Given the description of an element on the screen output the (x, y) to click on. 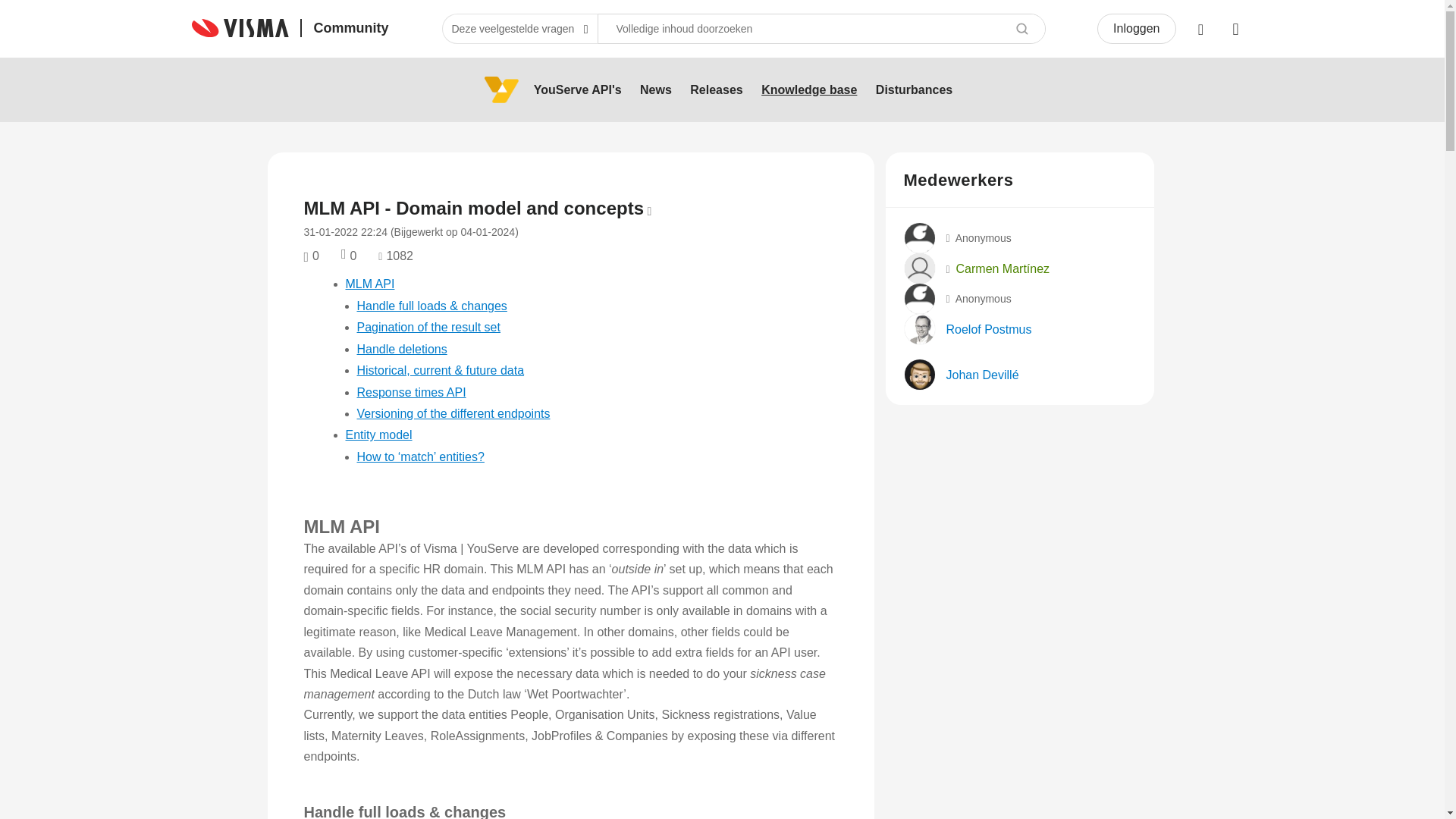
Versioning of the different endpoints (453, 413)
go to (576, 90)
Zoeken (821, 28)
Zoeken (1021, 28)
Zoekniveau (518, 28)
Knowledge base (809, 90)
Zoeken (1021, 28)
Zoeken (1021, 28)
Pagination of the result set (427, 327)
Home (289, 27)
